Given the description of an element on the screen output the (x, y) to click on. 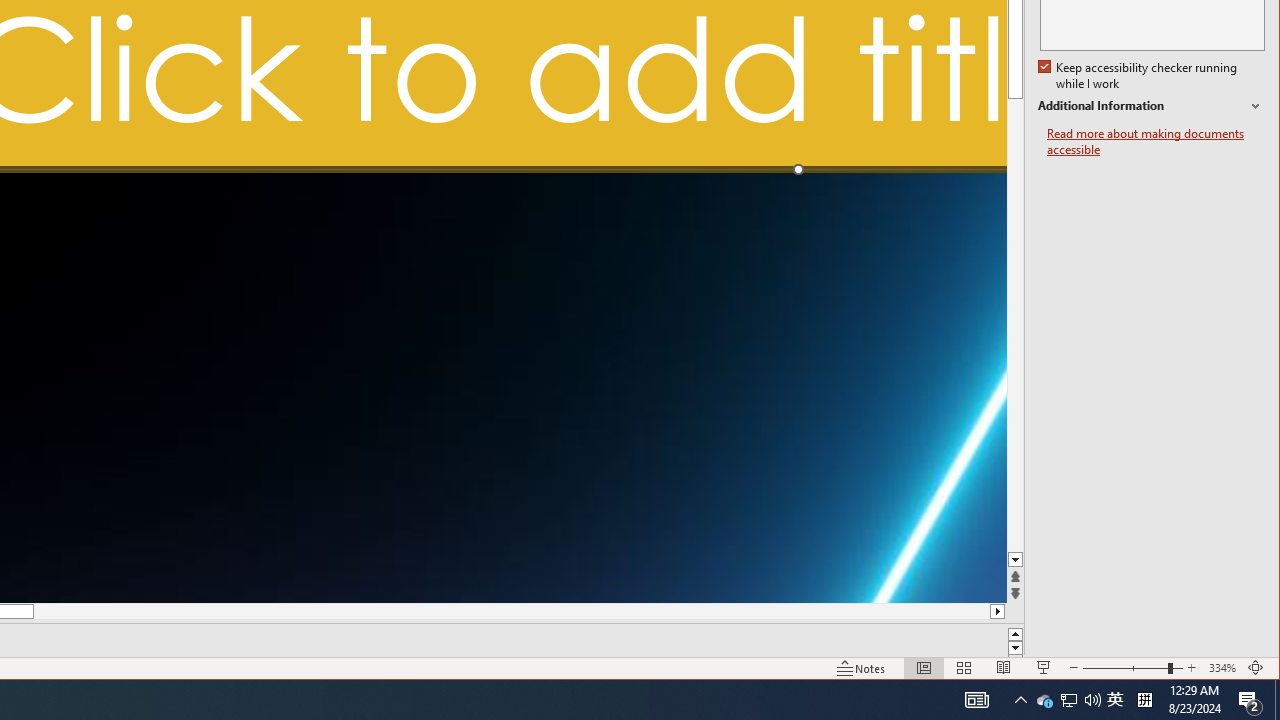
Tray Input Indicator - Chinese (Simplified, China) (1144, 699)
Zoom 334% (1222, 668)
Show desktop (1277, 699)
Slide Show (1115, 699)
Line down (1043, 668)
Reading View (1015, 560)
User Promoted Notification Area (1004, 668)
Notes  (1068, 699)
Normal (861, 668)
